Given the description of an element on the screen output the (x, y) to click on. 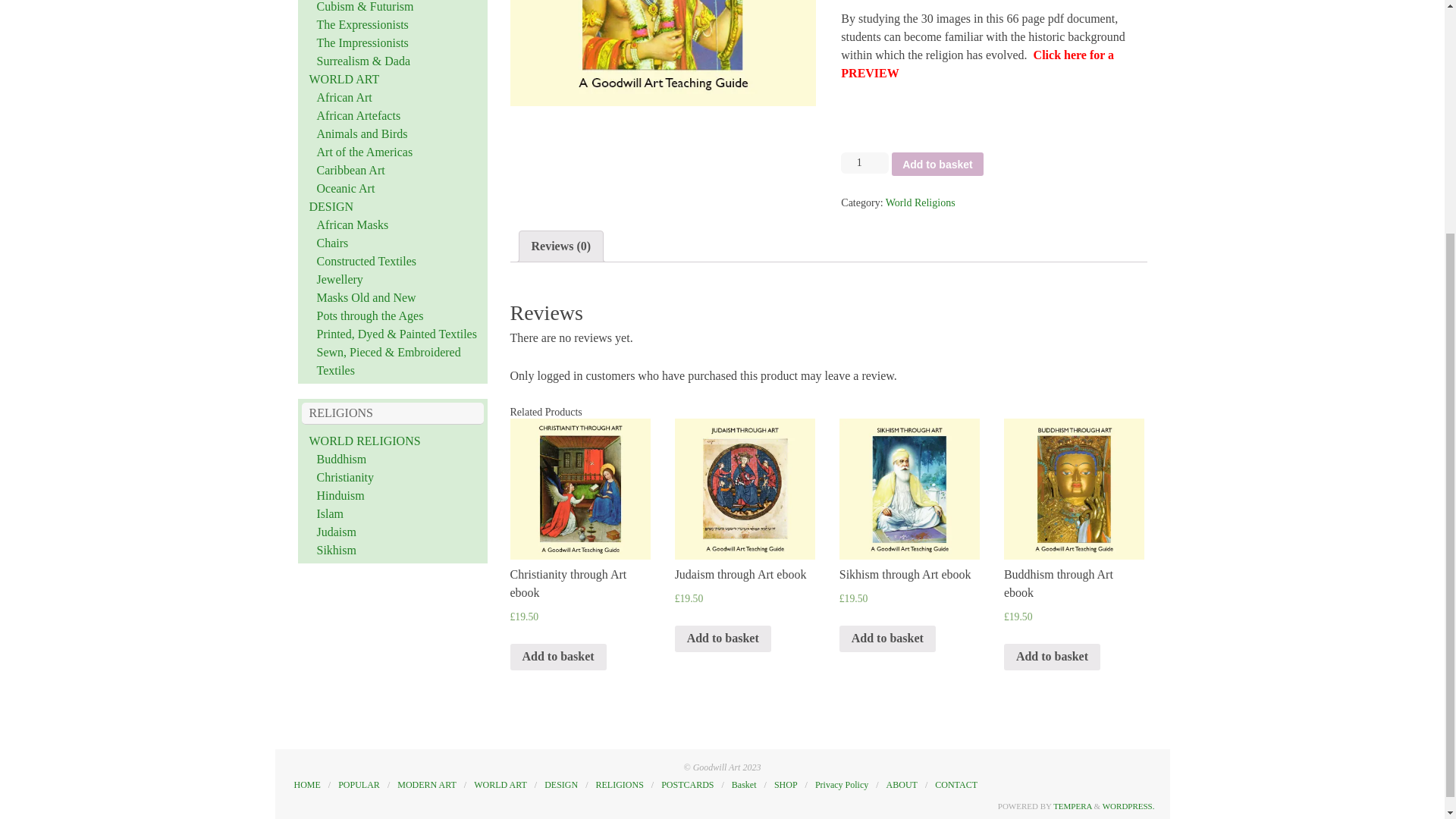
Sikhism through Art ebook (909, 488)
Hinduism through Art ebook (662, 53)
Judaism through Art ebook (745, 488)
Qty (864, 162)
Buddhism through Art ebook (1074, 488)
1 (864, 162)
Christianity through Art ebook (579, 488)
